Given the description of an element on the screen output the (x, y) to click on. 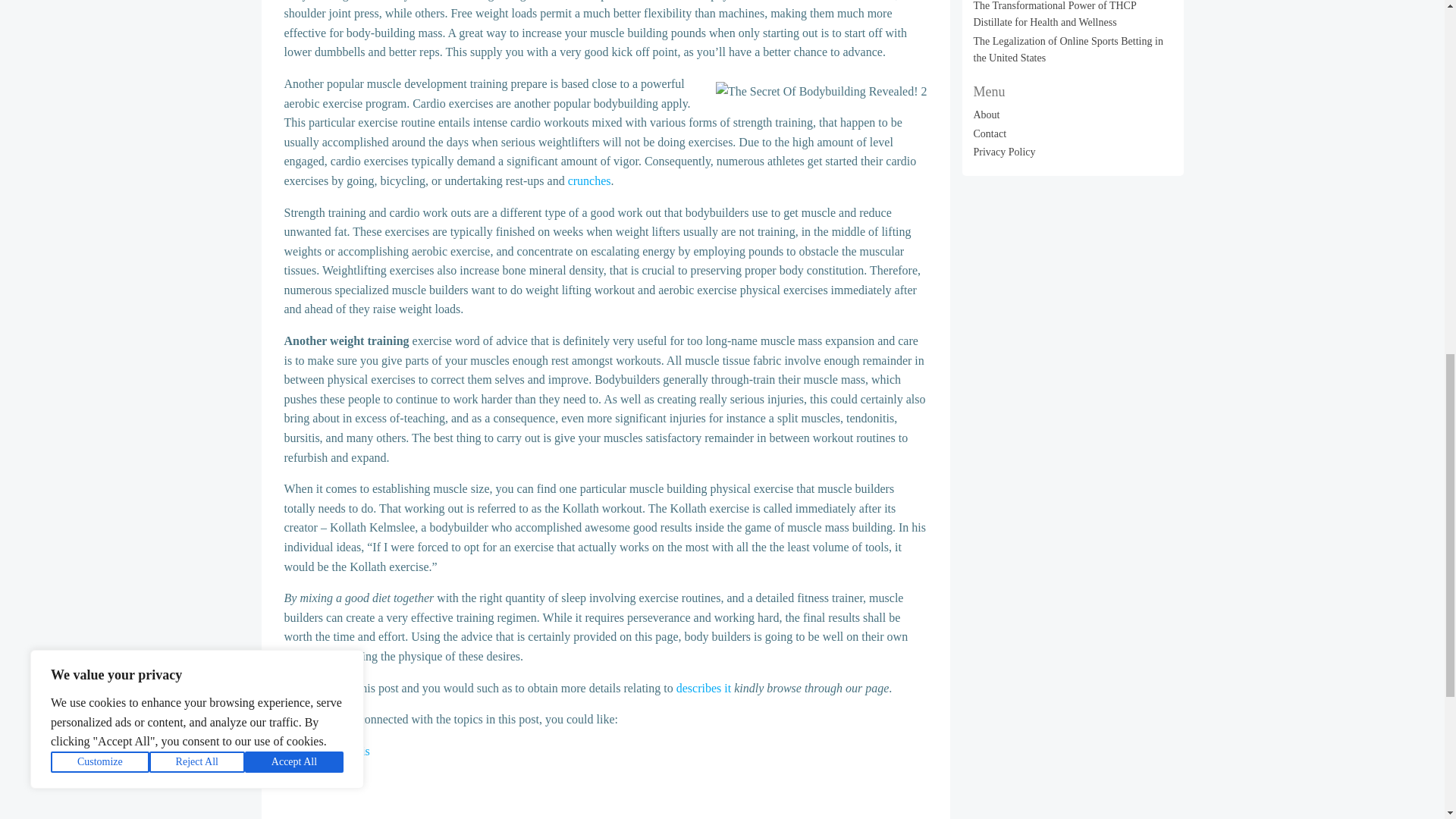
related website (319, 781)
I was reading this (326, 750)
crunches (589, 180)
solution (303, 656)
describes it (703, 687)
